Given the description of an element on the screen output the (x, y) to click on. 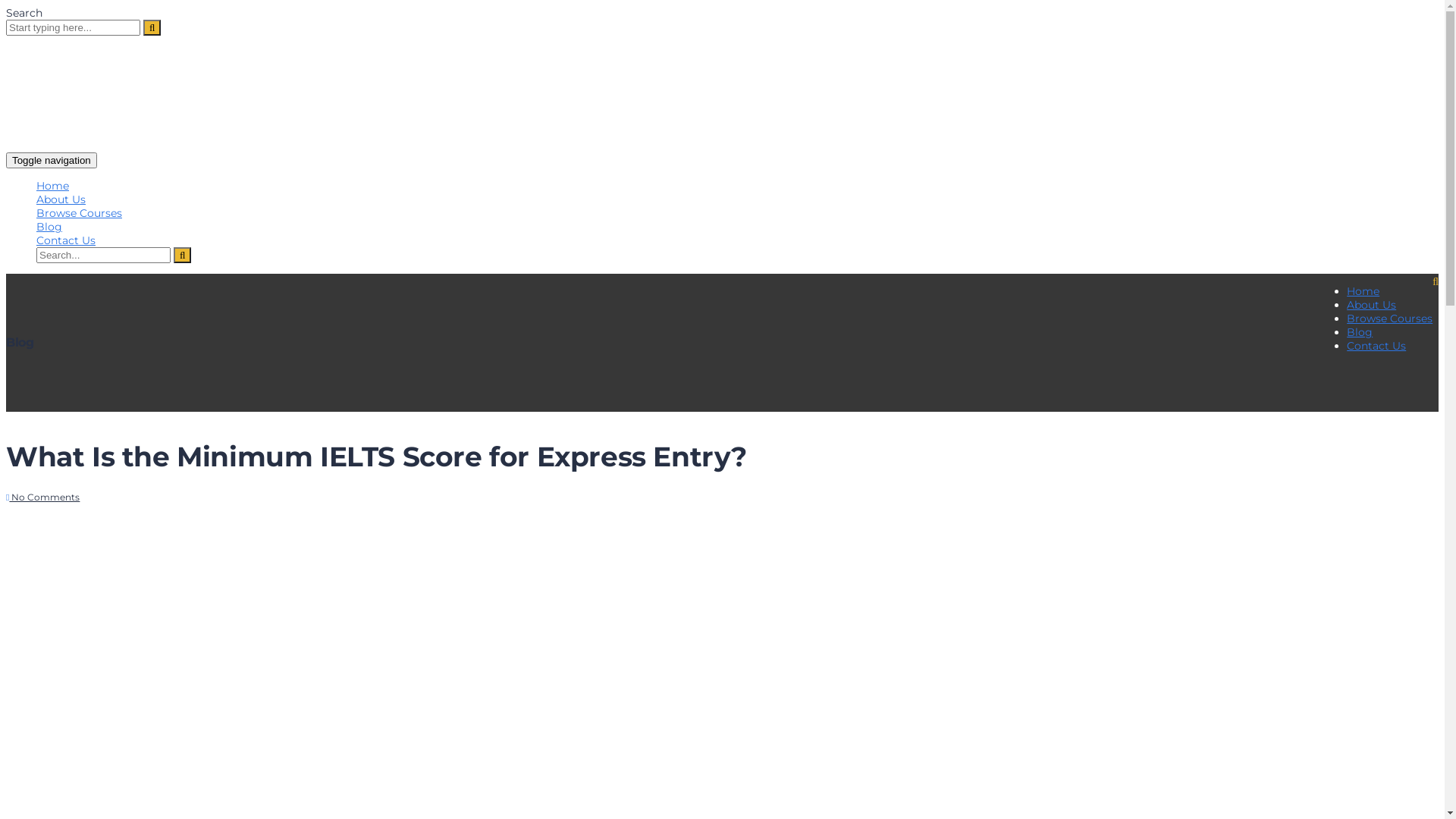
Home Element type: text (52, 185)
Blog Element type: text (1359, 331)
About Us Element type: text (60, 199)
Browse Courses Element type: text (79, 212)
Blog Element type: text (49, 226)
Contact Us Element type: text (65, 240)
Contact Us Element type: text (1375, 345)
Toggle navigation Element type: text (51, 160)
No Comments Element type: text (42, 496)
About Us Element type: text (1371, 304)
Home Element type: text (1362, 291)
Browse Courses Element type: text (1389, 318)
